Given the description of an element on the screen output the (x, y) to click on. 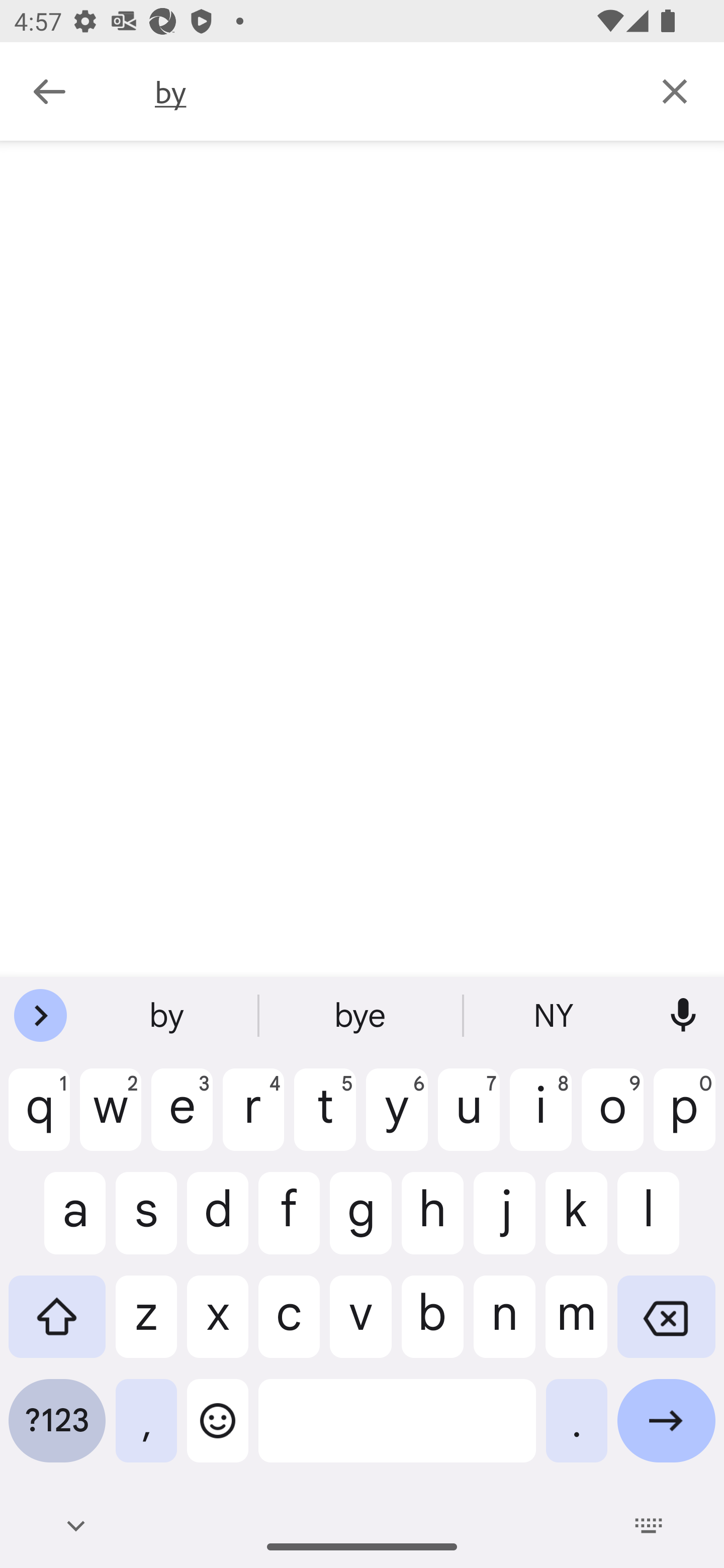
Navigate up (49, 91)
Clear query (674, 90)
by (389, 91)
